Given the description of an element on the screen output the (x, y) to click on. 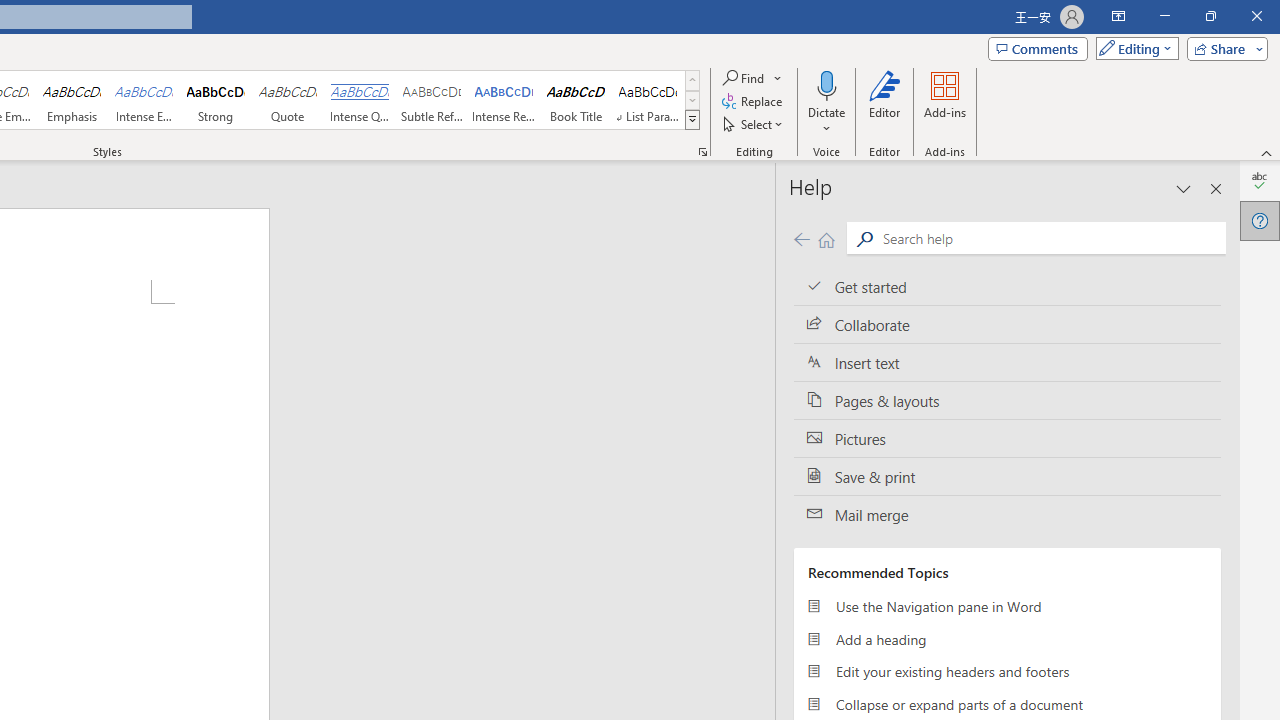
Mode (1133, 47)
Select (754, 124)
Quote (287, 100)
Edit your existing headers and footers (1007, 672)
Strong (216, 100)
Get started (1007, 286)
Replace... (753, 101)
Use the Navigation pane in Word (1007, 605)
Save & print (1007, 476)
